Given the description of an element on the screen output the (x, y) to click on. 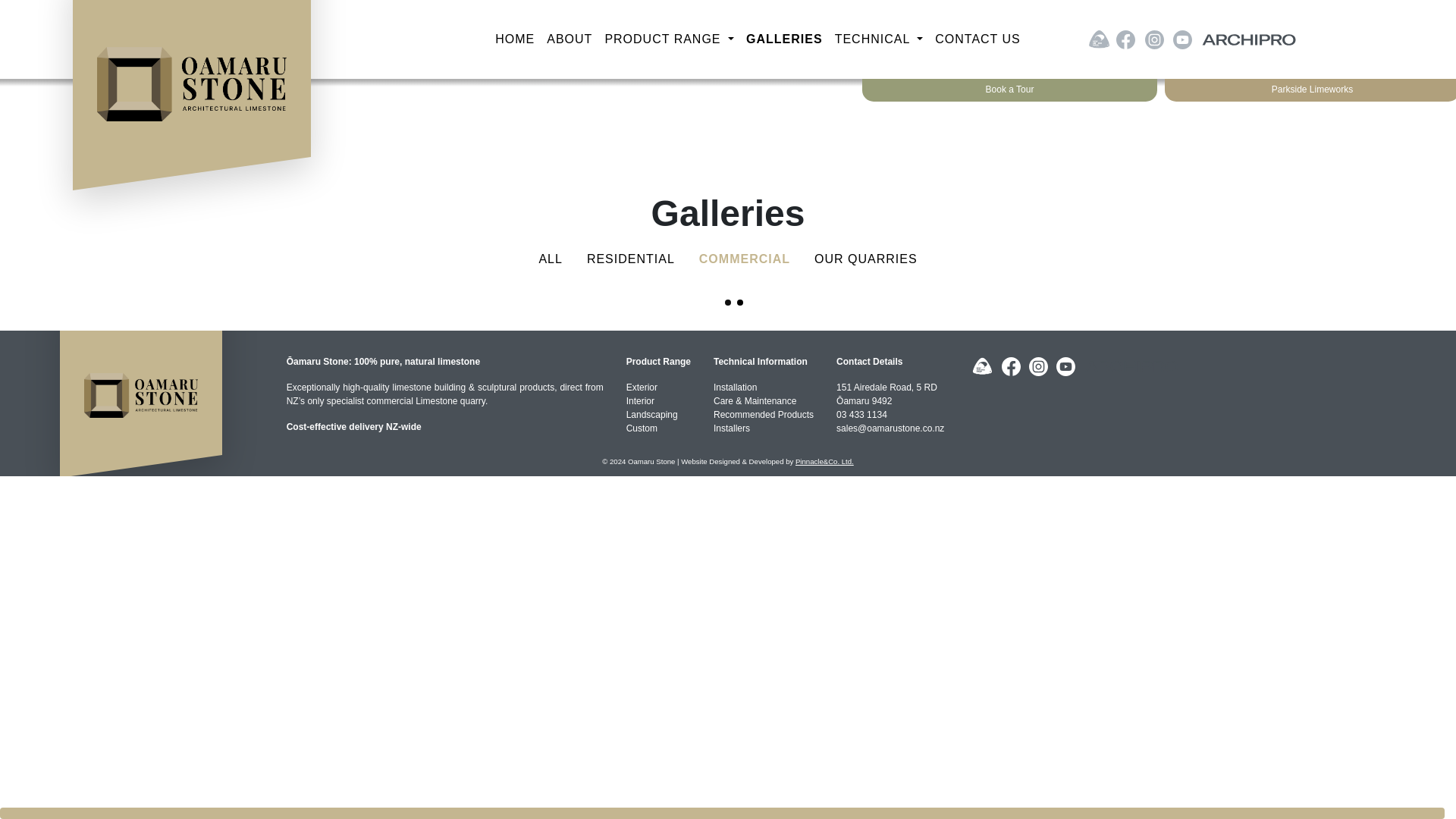
TECHNICAL (879, 39)
HOME (514, 39)
GALLERIES (783, 39)
Book a Tour (1009, 89)
OUR QUARRIES (865, 259)
CONTACT US (977, 39)
Parkside Limeworks (1310, 89)
PRODUCT RANGE (668, 39)
COMMERCIAL (744, 259)
RESIDENTIAL (630, 259)
ABOUT (569, 39)
ALL (550, 259)
